Given the description of an element on the screen output the (x, y) to click on. 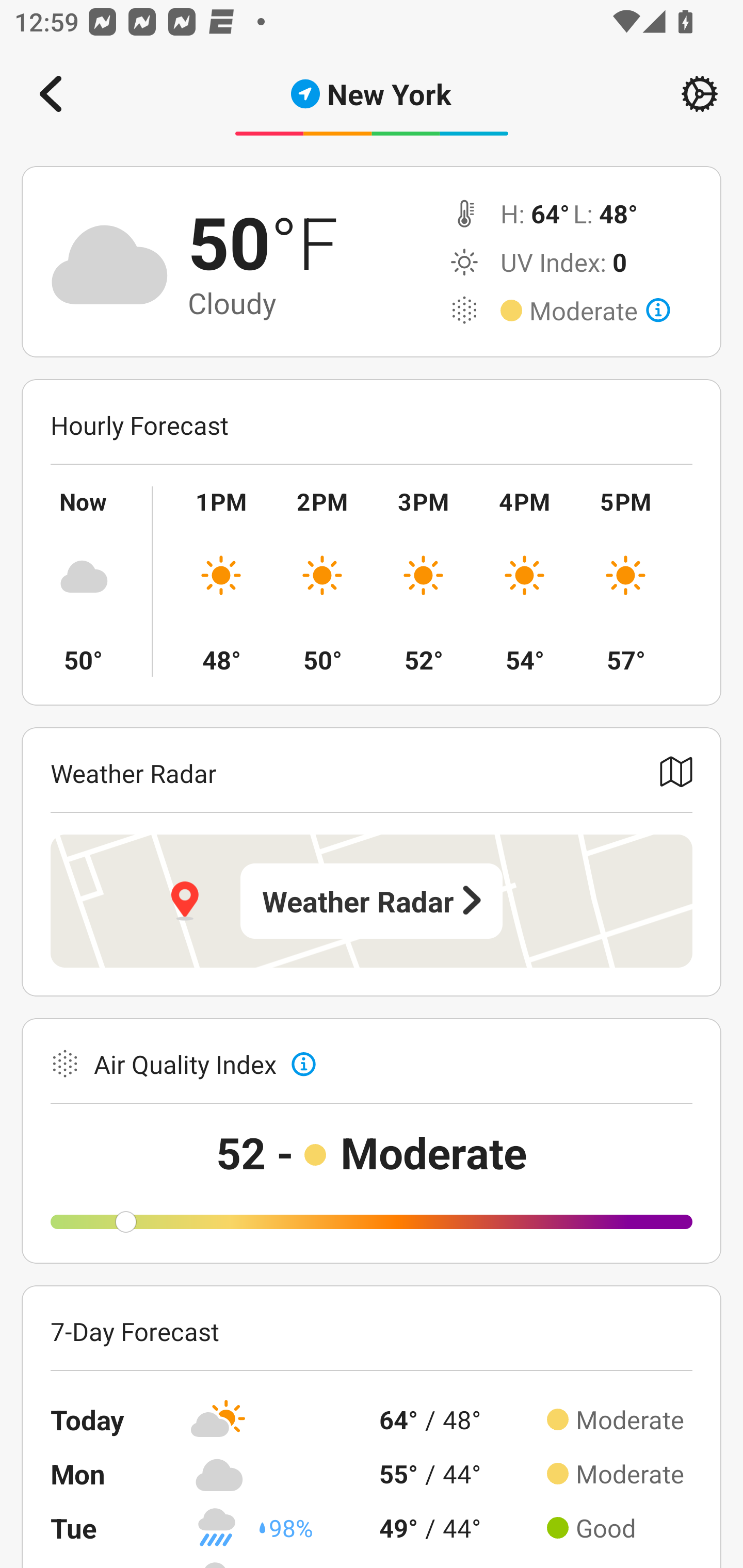
Navigate up (50, 93)
Setting (699, 93)
Moderate (599, 310)
Weather Radar (371, 900)
